Given the description of an element on the screen output the (x, y) to click on. 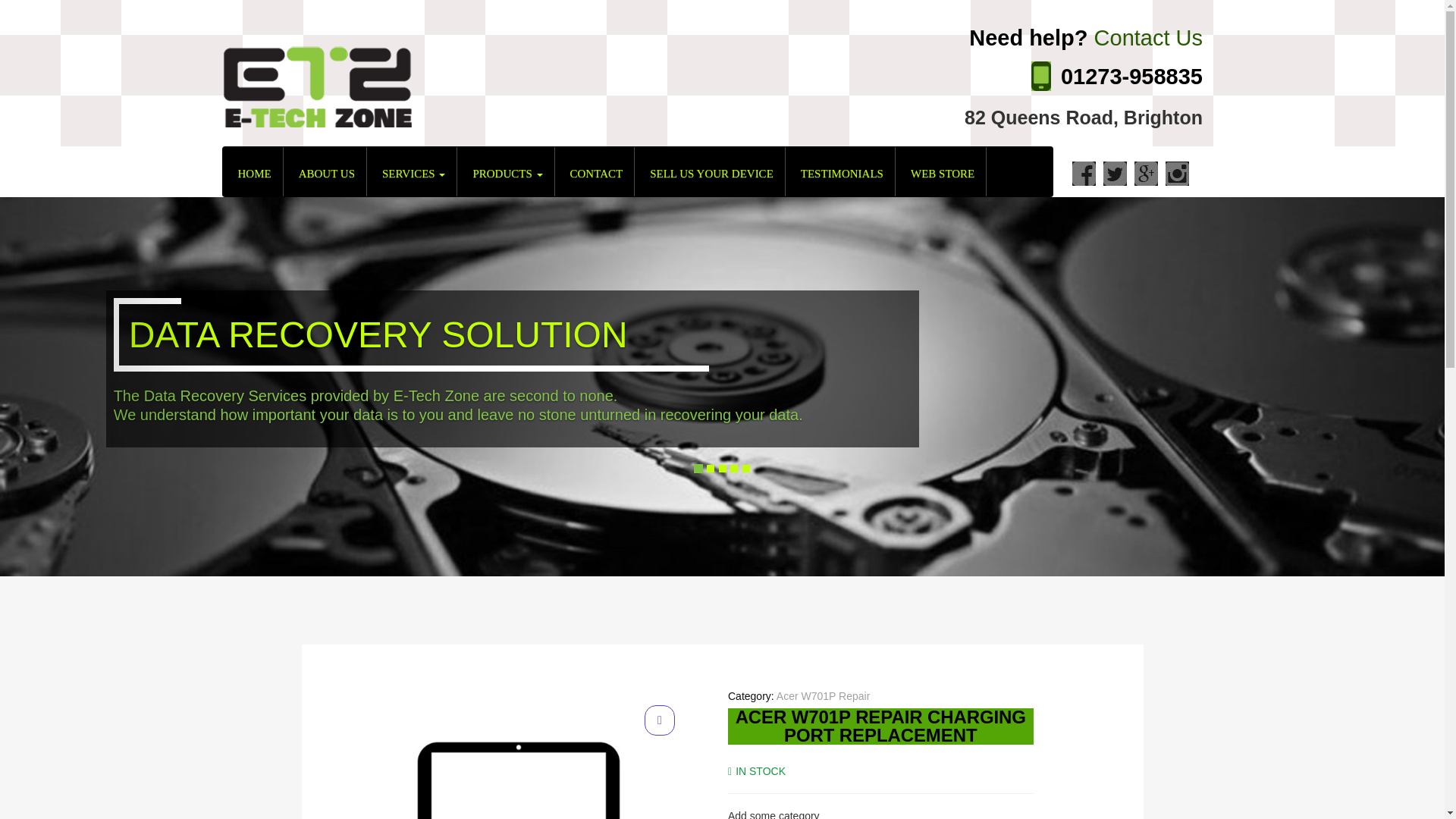
Sell us your device (710, 171)
Contact (594, 171)
Testimonials (840, 171)
WEB STORE (941, 171)
SERVICES (411, 171)
CONTACT (594, 171)
Acer W701P Repair (822, 695)
About Us (324, 171)
PRODUCTS (505, 171)
Services (411, 171)
Products (505, 171)
Home (252, 171)
HOME (252, 171)
TESTIMONIALS (840, 171)
SELL US YOUR DEVICE (710, 171)
